Given the description of an element on the screen output the (x, y) to click on. 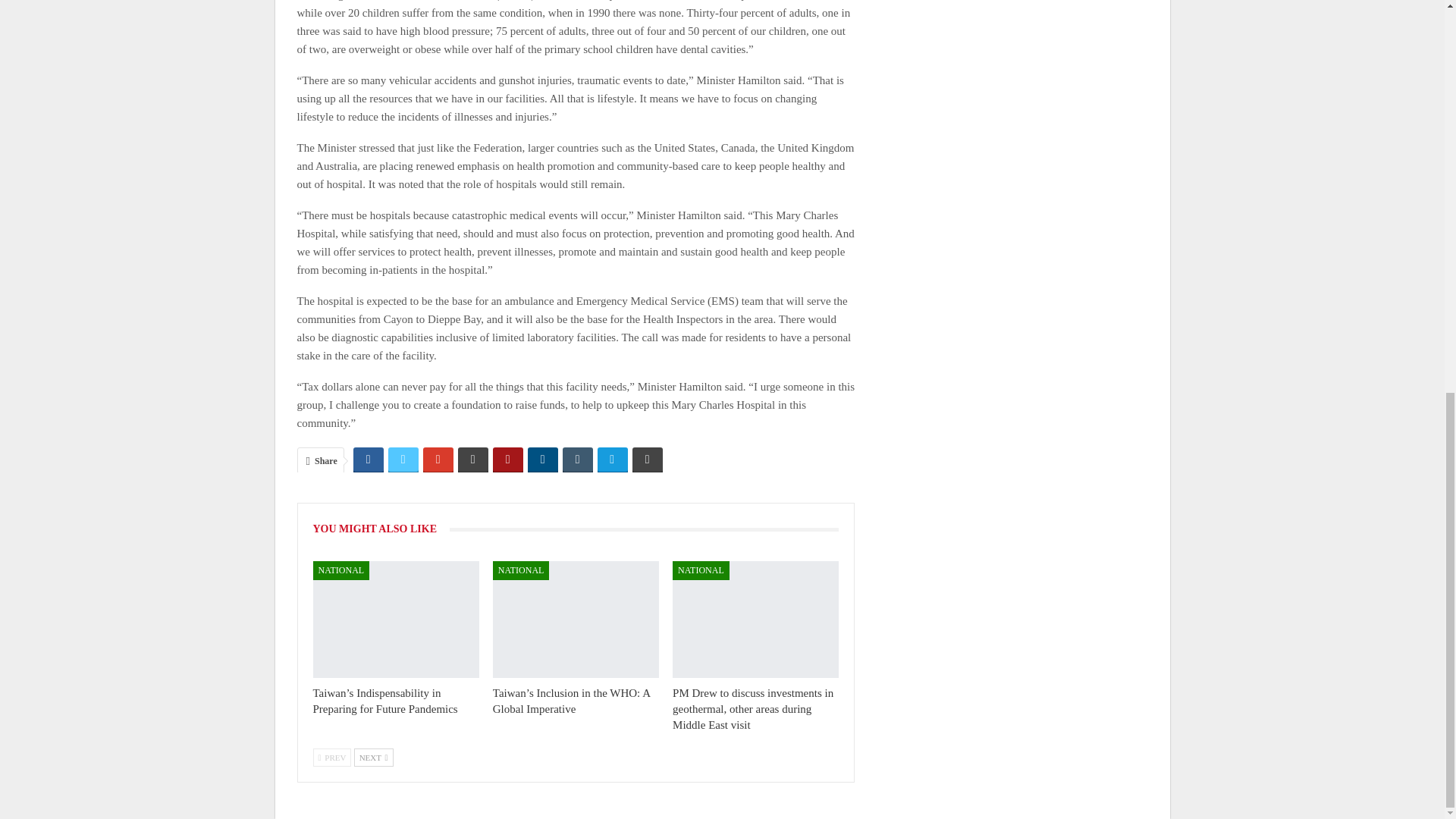
Next (373, 757)
Previous (331, 757)
